Given the description of an element on the screen output the (x, y) to click on. 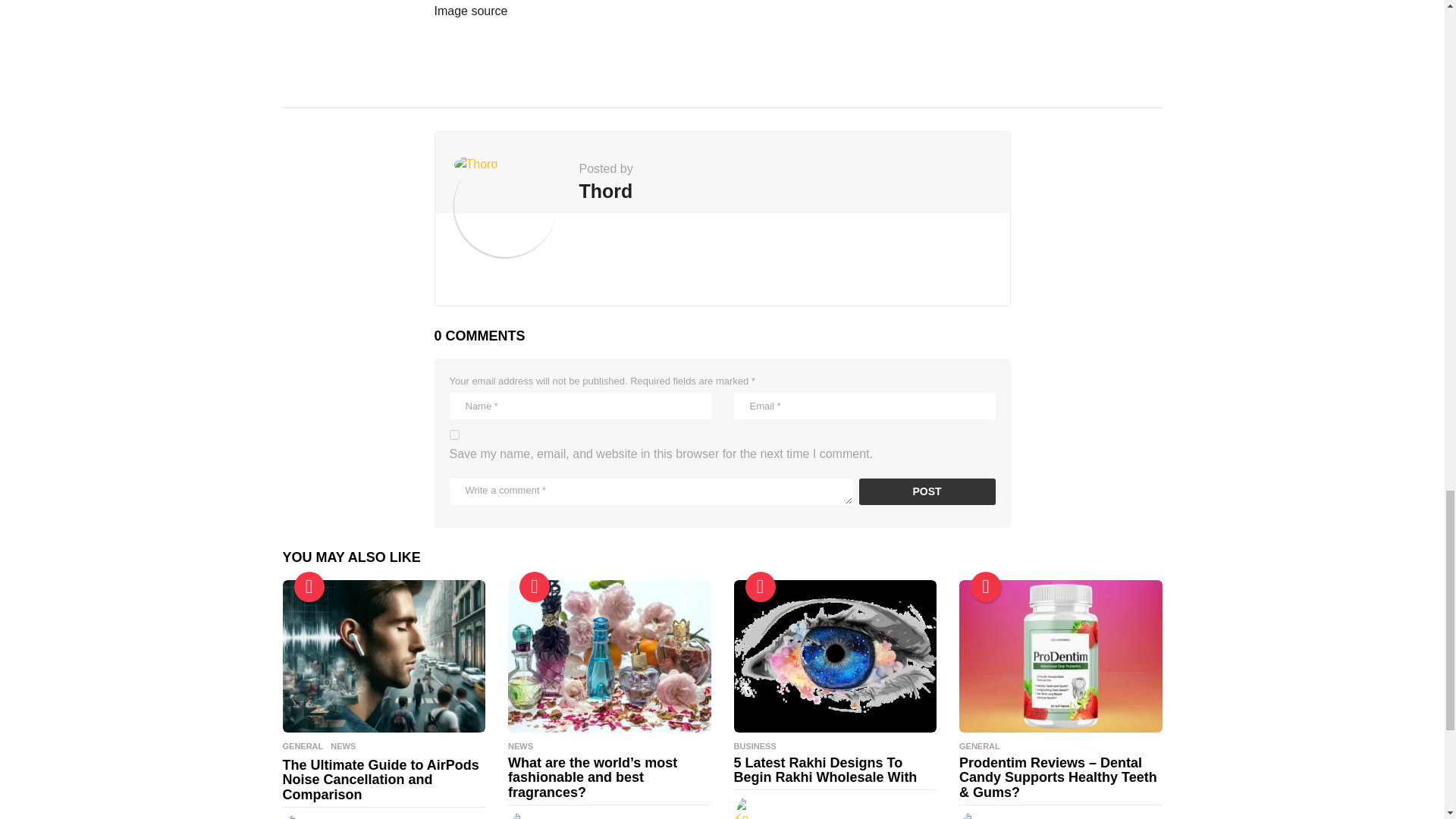
GENERAL (302, 746)
Post (926, 491)
Popular (309, 586)
Hot (759, 586)
Thord (606, 191)
5 Latest Rakhi Designs To Begin Rakhi Wholesale With (835, 655)
yes (453, 434)
NEWS (342, 746)
Popular (534, 586)
Post (926, 491)
